Given the description of an element on the screen output the (x, y) to click on. 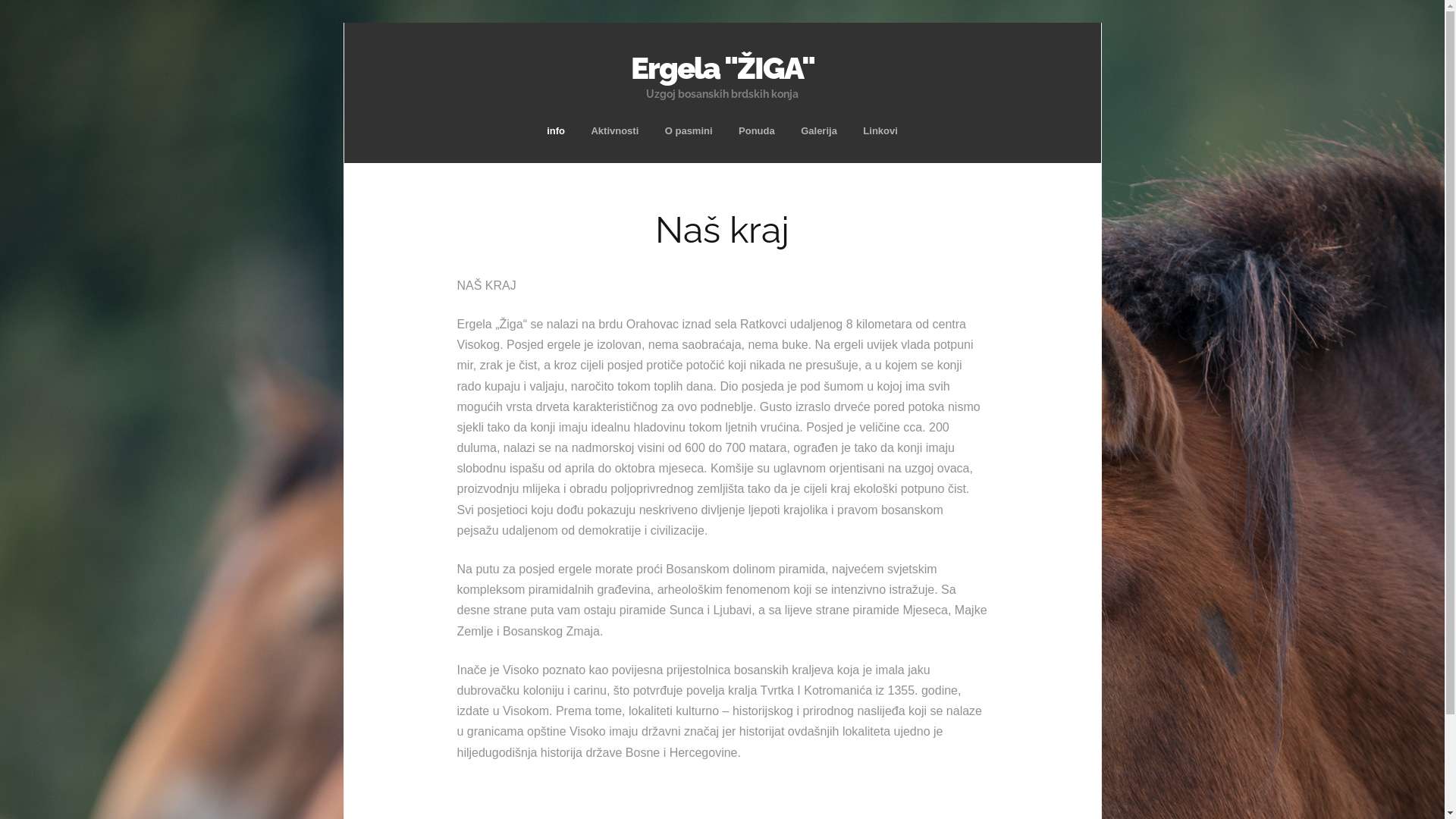
O pasmini Element type: text (688, 130)
Aktivnosti Element type: text (614, 130)
info Element type: text (555, 130)
Ponuda Element type: text (756, 130)
Galerija Element type: text (818, 130)
Linkovi Element type: text (880, 130)
